Given the description of an element on the screen output the (x, y) to click on. 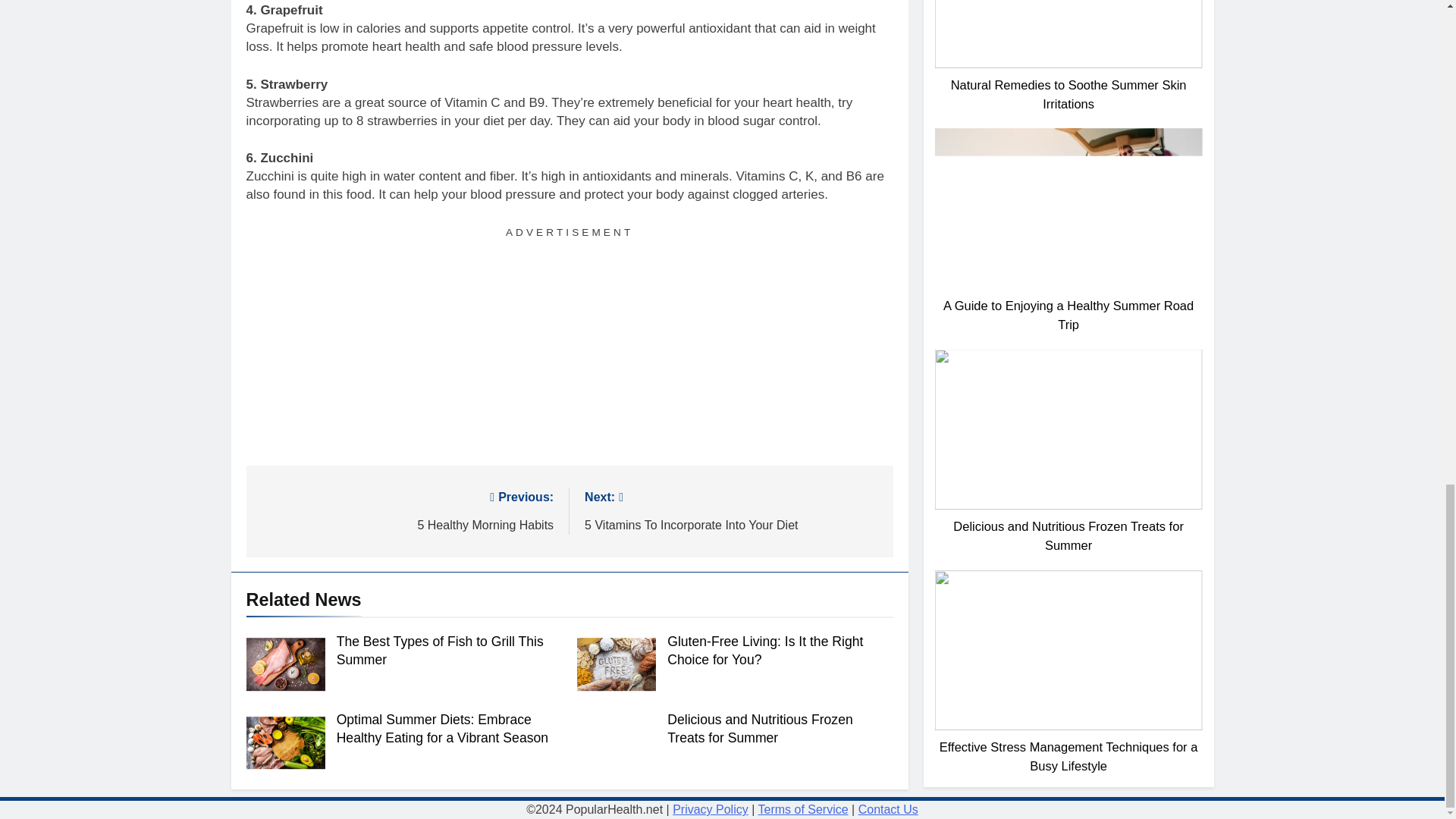
The Best Types of Fish to Grill This Summer (439, 650)
Delicious and Nutritious Frozen Treats for Summer (406, 509)
Gluten-Free Living: Is It the Right Choice for You? (758, 728)
